Given the description of an element on the screen output the (x, y) to click on. 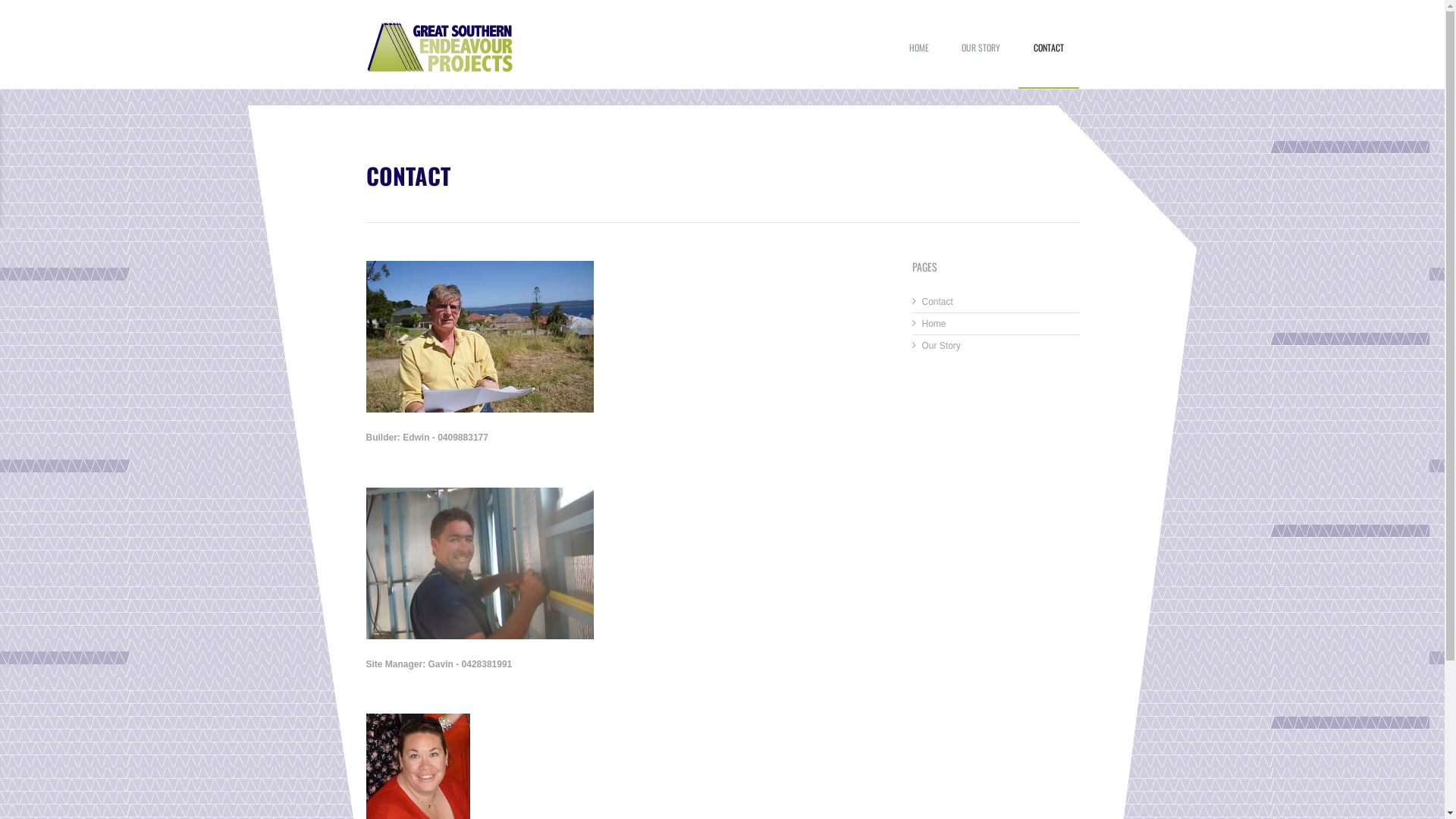
CONTACT Element type: text (1047, 60)
Contact Element type: text (937, 301)
Home Element type: text (934, 323)
Our Story Element type: text (941, 345)
HOME Element type: text (919, 60)
OUR STORY Element type: text (980, 60)
